Given the description of an element on the screen output the (x, y) to click on. 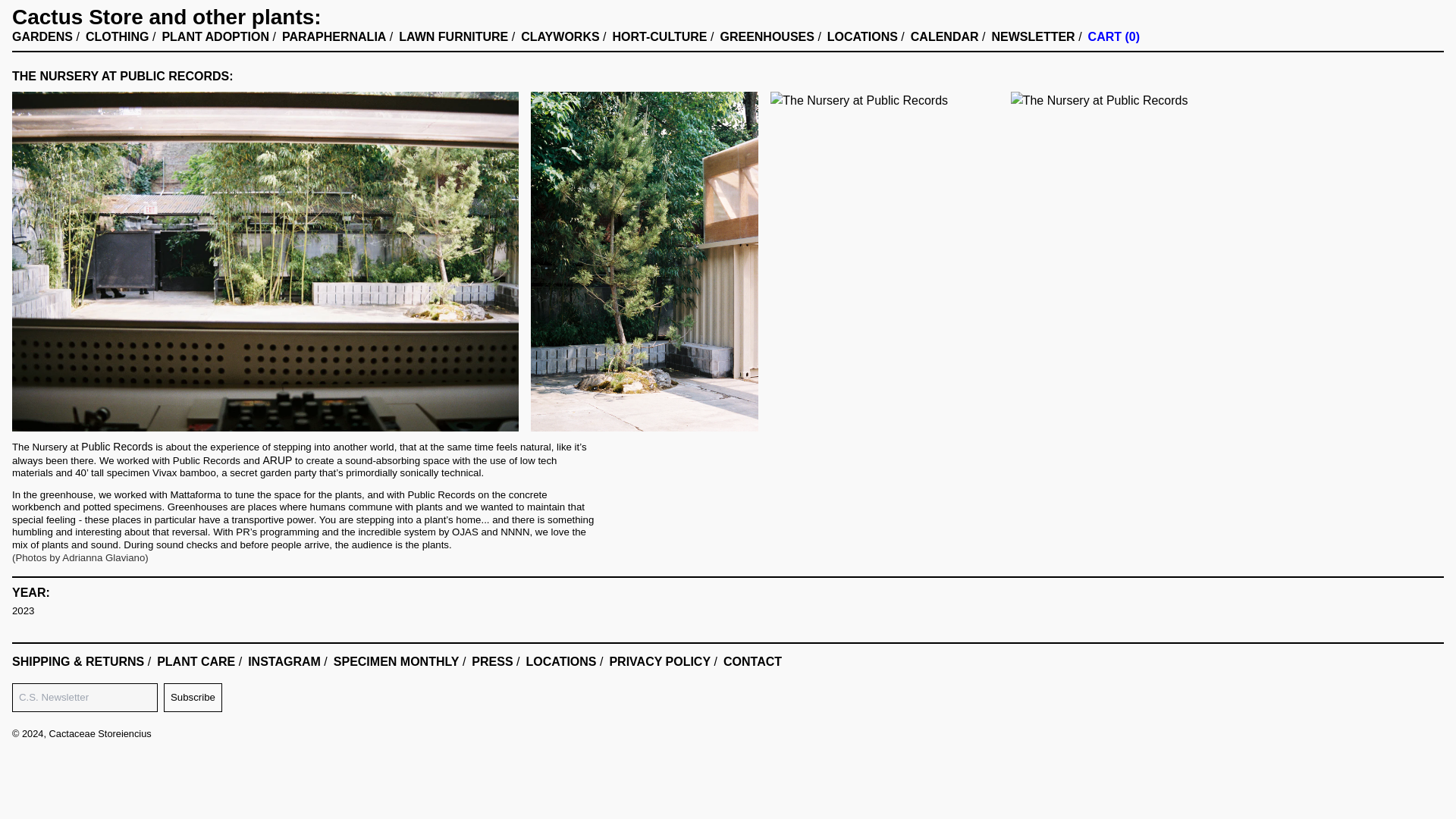
PRIVACY POLICY (659, 662)
OJAS (465, 531)
CALENDAR (944, 37)
LOCATIONS (862, 37)
LAWN FURNITURE (453, 37)
HORT-CULTURE (659, 37)
INSTAGRAM (283, 662)
Cactaceae Storeiencius (100, 733)
GREENHOUSES (766, 37)
